Given the description of an element on the screen output the (x, y) to click on. 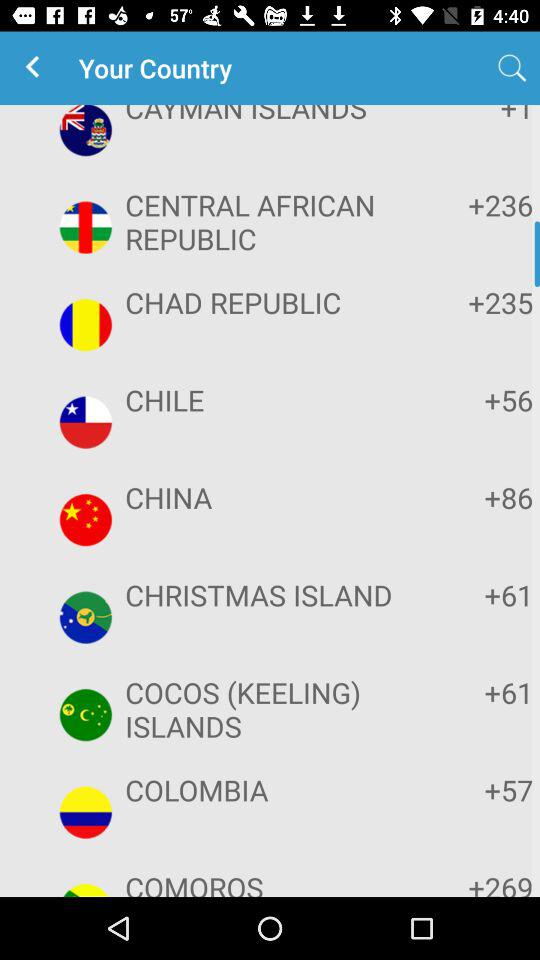
choose the item next to your country icon (36, 68)
